Given the description of an element on the screen output the (x, y) to click on. 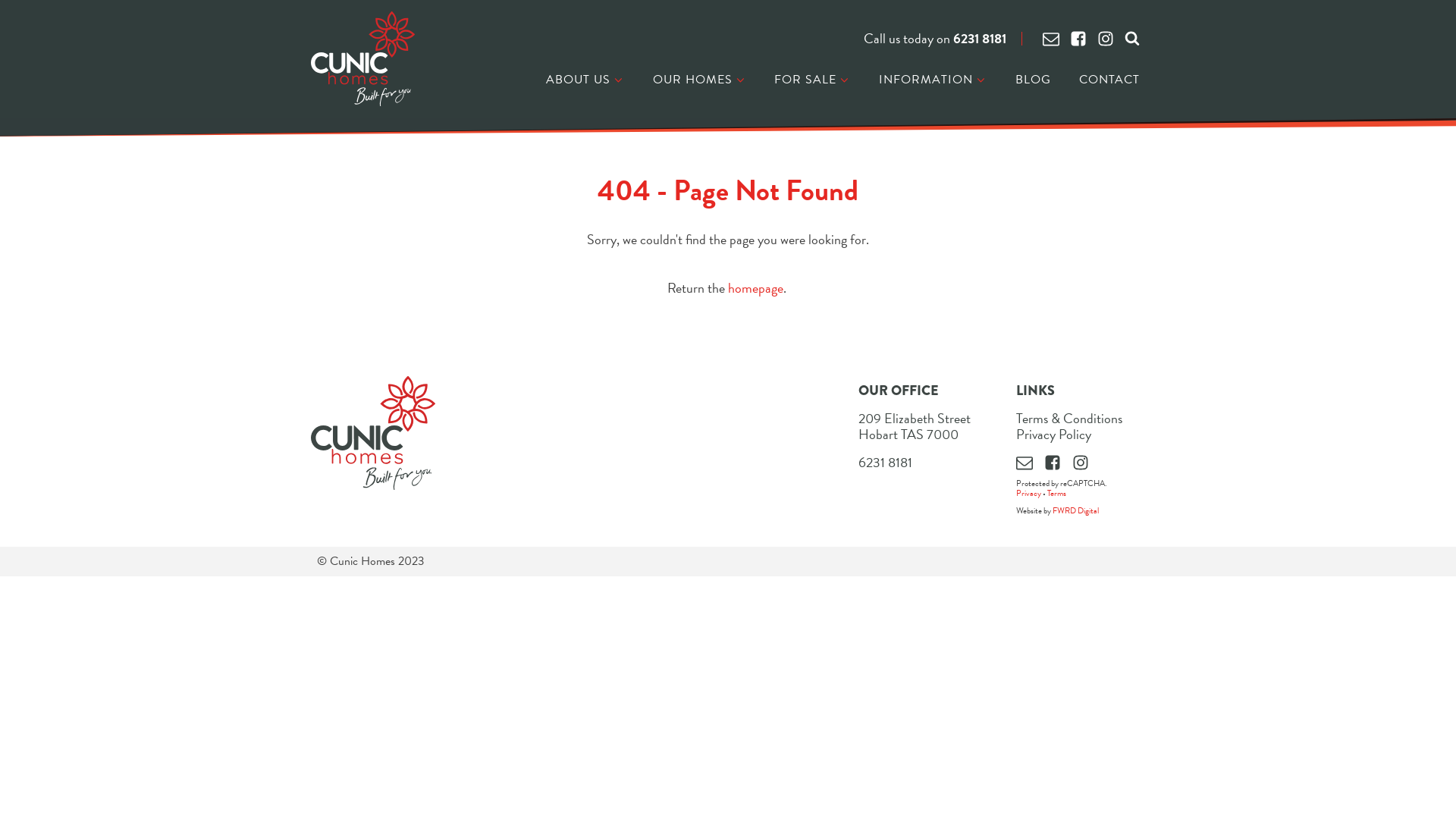
INFORMATION Element type: text (932, 79)
CONTACT Element type: text (1109, 79)
FOR SALE Element type: text (812, 79)
Search Element type: text (27, 10)
Terms & Conditions Element type: text (1069, 418)
OUR HOMES Element type: text (699, 79)
Privacy Policy Element type: text (1053, 434)
Privacy Element type: text (1028, 493)
FWRD Digital Element type: text (1075, 510)
ABOUT US Element type: text (585, 79)
Terms Element type: text (1056, 493)
homepage Element type: text (755, 287)
6231 8181 Element type: text (885, 462)
6231 8181 Element type: text (979, 38)
BLOG Element type: text (1033, 79)
